Given the description of an element on the screen output the (x, y) to click on. 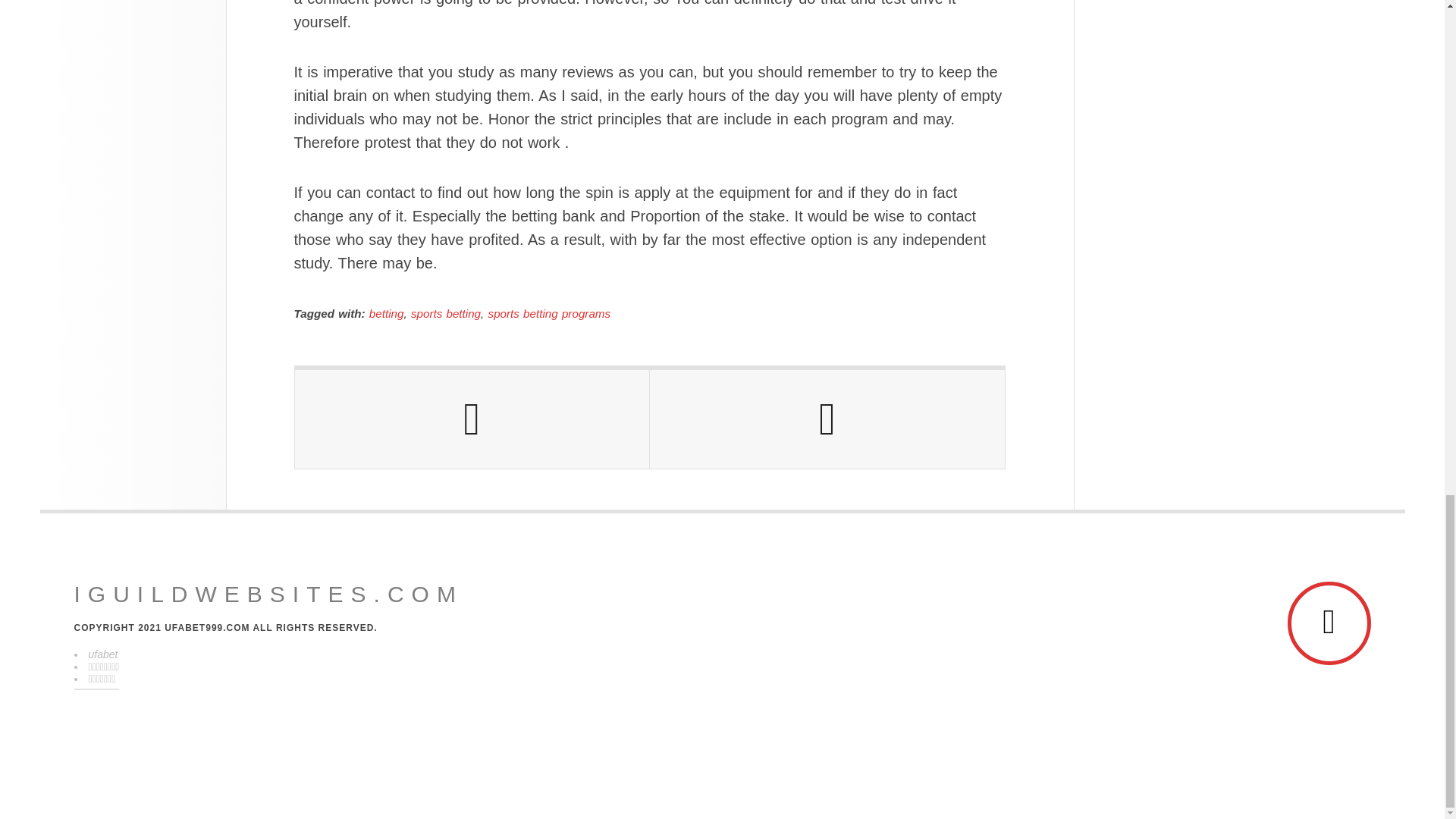
Next Post (826, 419)
sports betting programs (549, 313)
buydiazepampills.com (268, 594)
betting (386, 313)
Previous Post (471, 419)
sports betting (445, 313)
